Given the description of an element on the screen output the (x, y) to click on. 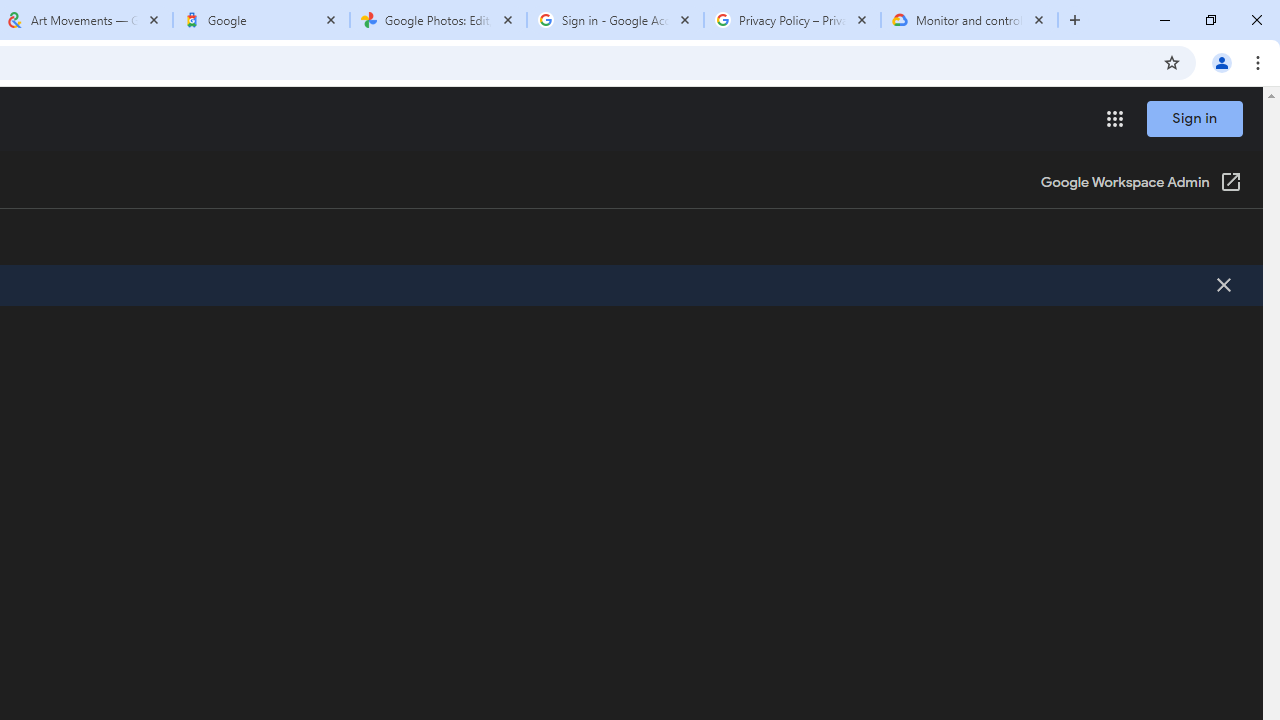
Google Workspace Admin (Open in a new window) (1140, 183)
Sign in - Google Accounts (615, 20)
